Given the description of an element on the screen output the (x, y) to click on. 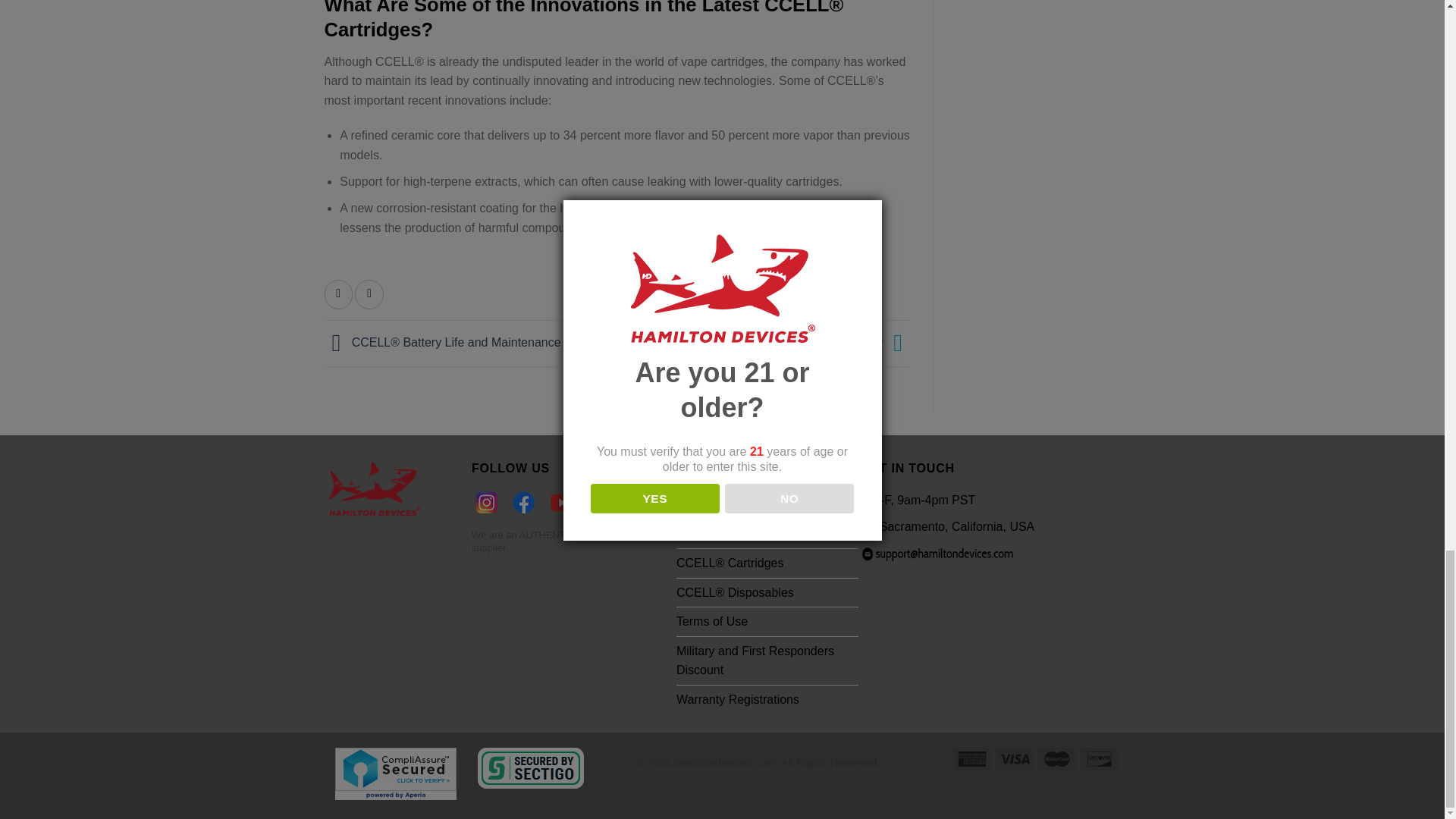
Share on Twitter (369, 294)
Share on Facebook (338, 294)
